Given the description of an element on the screen output the (x, y) to click on. 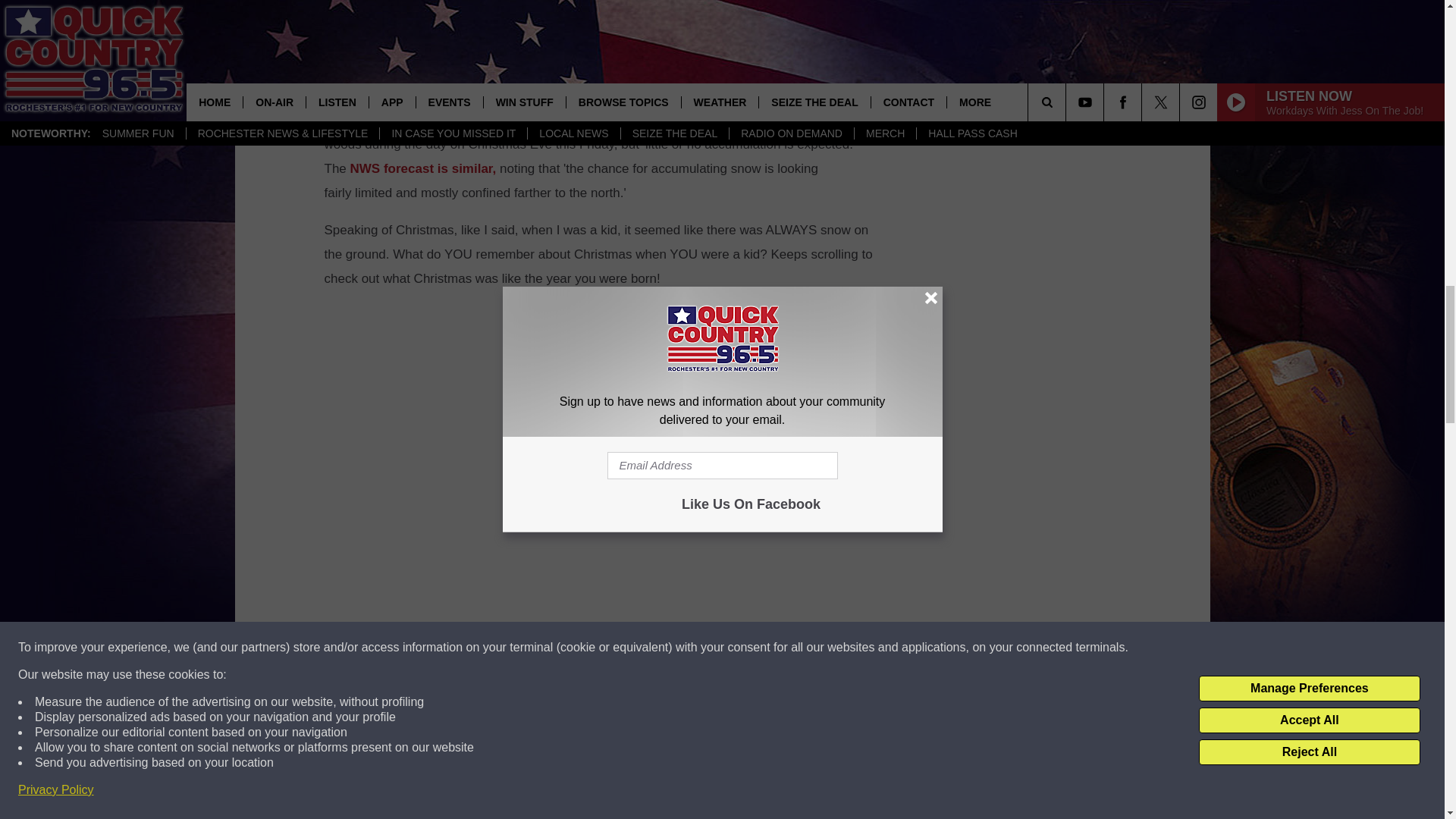
Email Address (600, 60)
